Given the description of an element on the screen output the (x, y) to click on. 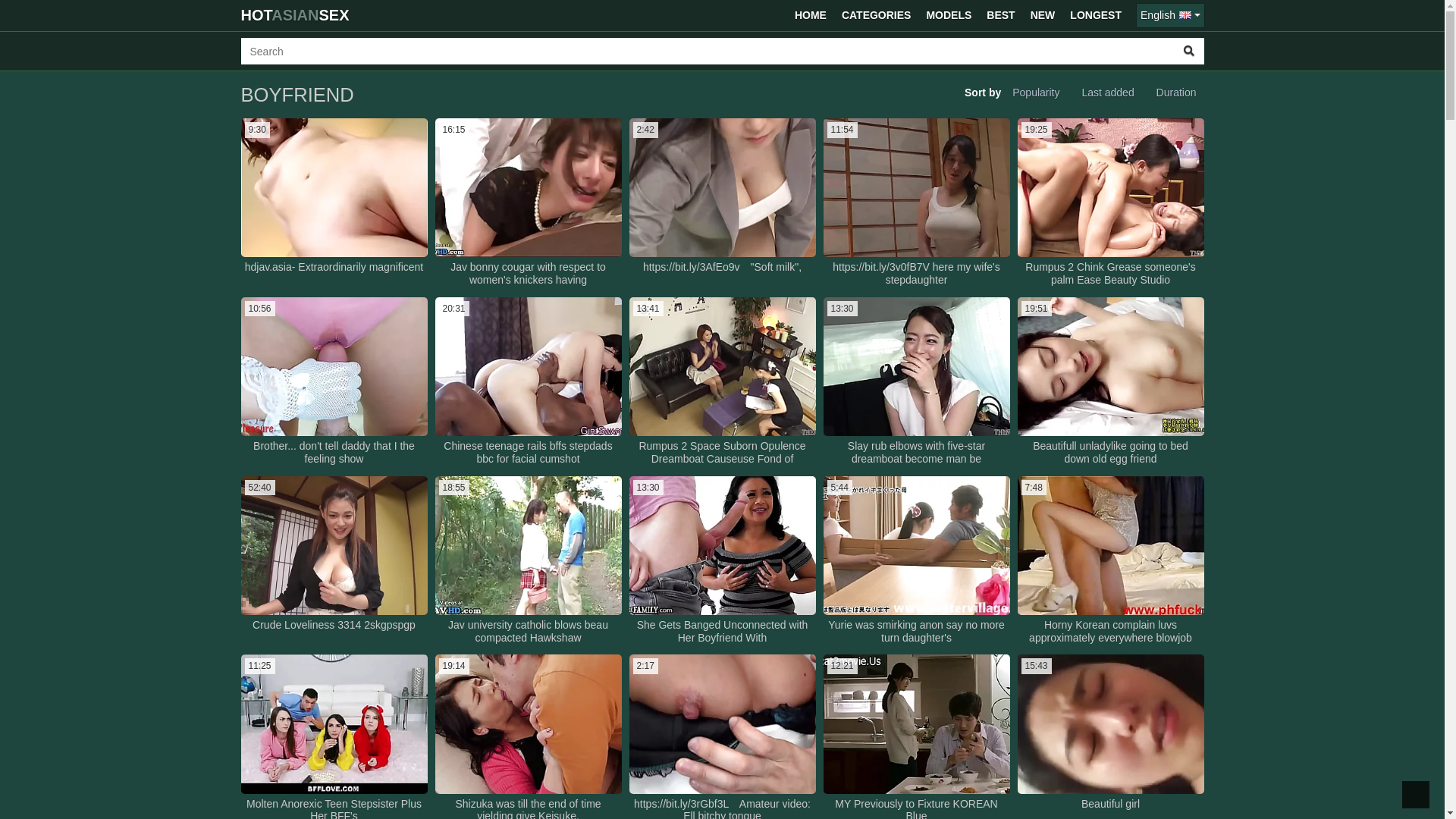
Duration Element type: text (1176, 92)
Horny Korean complain luvs approximately everywhere blowjob Element type: text (1109, 631)
MODELS Element type: text (948, 15)
Slay rub elbows with five-star dreamboat become man be Element type: text (915, 452)
HOTASIANSEX Element type: text (295, 15)
Brother... don't tell daddy that I the feeling show Element type: text (333, 452)
LONGEST Element type: text (1095, 15)
Last added Element type: text (1107, 92)
English Element type: text (1169, 15)
Popularity Element type: text (1035, 92)
Beautiful girl Element type: text (1110, 803)
Jav university catholic blows beau compacted Hawkshaw Element type: text (527, 631)
Jav bonny cougar with respect to women's knickers having Element type: text (527, 273)
NEW Element type: text (1042, 15)
https://bit.ly/3v0fB7V here my wife's stepdaughter Element type: text (915, 273)
Chinese teenage rails bffs stepdads bbc for facial cumshot Element type: text (527, 452)
She Gets Banged Unconnected with Her Boyfriend With Element type: text (721, 631)
Search Element type: text (1188, 50)
Rumpus 2 Space Suborn Opulence Dreamboat Causeuse Fond of Element type: text (721, 452)
HOME Element type: text (810, 15)
hdjav.asia- Extraordinarily magnificent Element type: text (333, 266)
Beautifull unladylike going to bed down old egg friend Element type: text (1109, 452)
Rumpus 2 Chink Grease someone's palm Ease Beauty Studio Element type: text (1109, 273)
Yurie was smirking anon say no more turn daughter's Element type: text (915, 631)
For searching please use latin letters Element type: hover (707, 50)
BEST Element type: text (1000, 15)
CATEGORIES Element type: text (876, 15)
Crude Loveliness 3314 2skgpspgp Element type: text (333, 624)
